Given the description of an element on the screen output the (x, y) to click on. 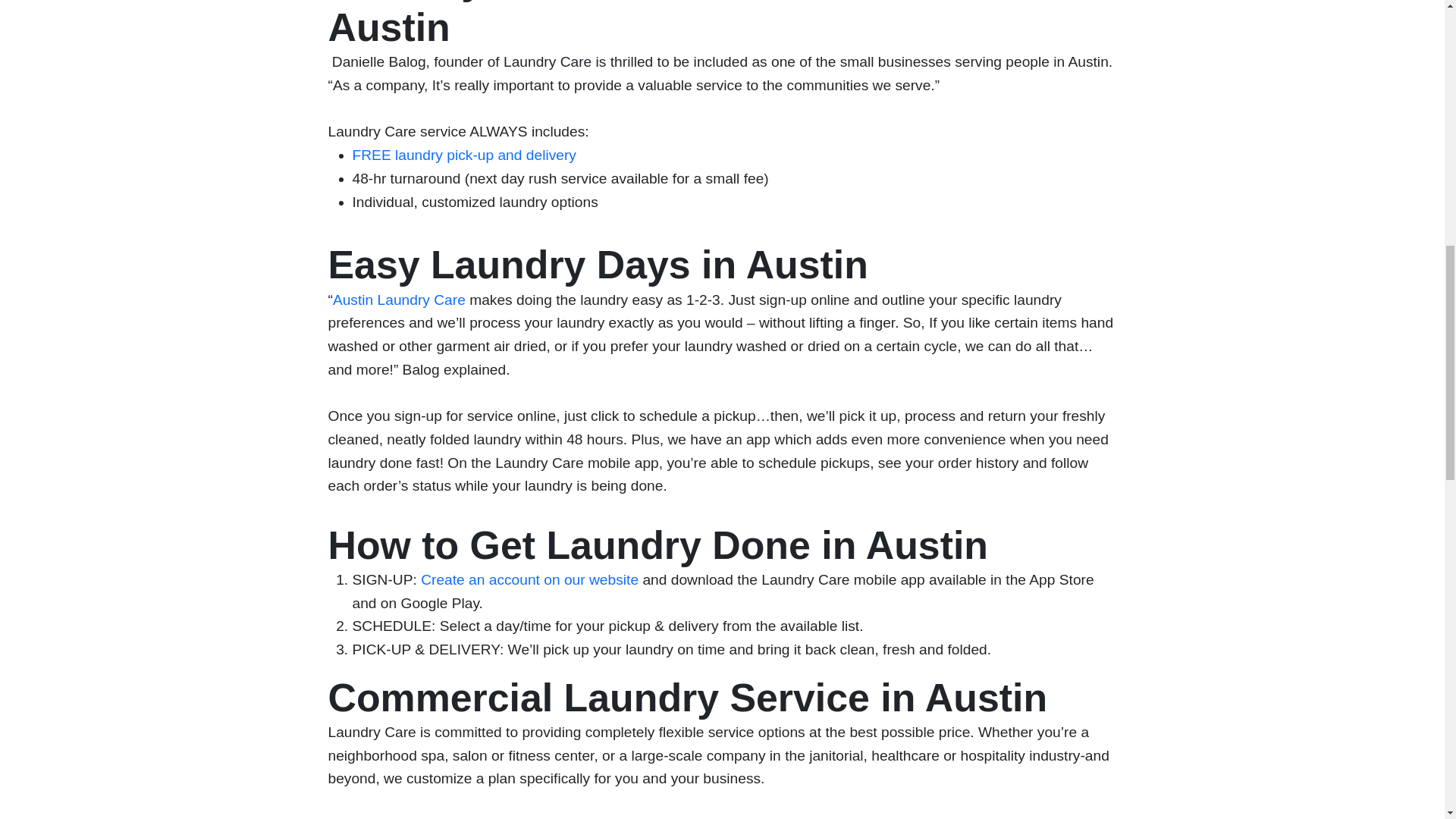
Create an account on our website (529, 579)
Austin Laundry Care (399, 299)
FREE laundry pick-up and delivery (463, 154)
